Given the description of an element on the screen output the (x, y) to click on. 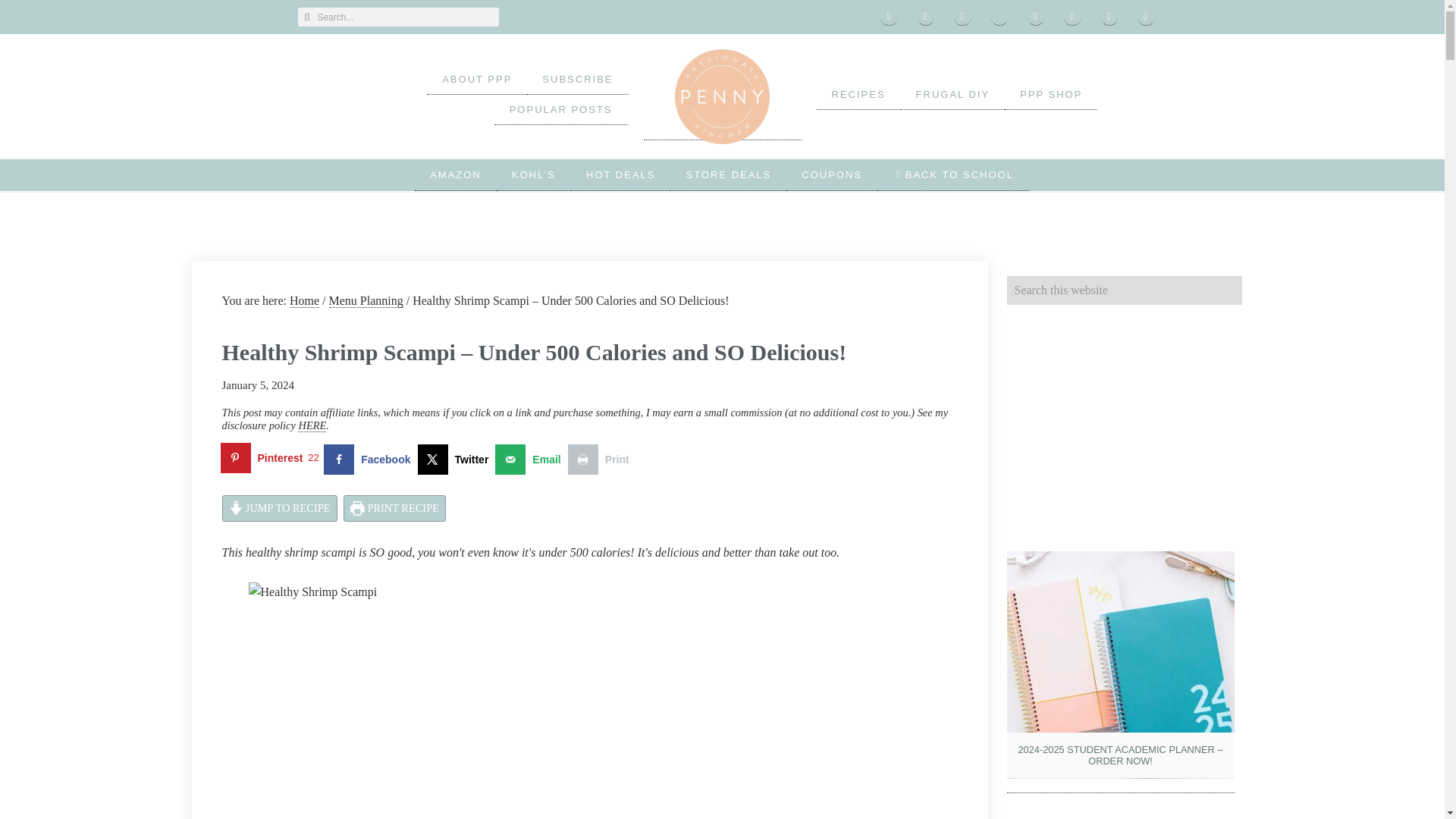
ABOUT PPP (476, 79)
PPP SHOP (1050, 94)
Share on X (455, 459)
FRUGAL DIY (953, 94)
Save to Pinterest (272, 459)
POPULAR POSTS (561, 110)
Print this webpage (601, 459)
Share on Facebook (369, 459)
SUBSCRIBE (577, 79)
